Given the description of an element on the screen output the (x, y) to click on. 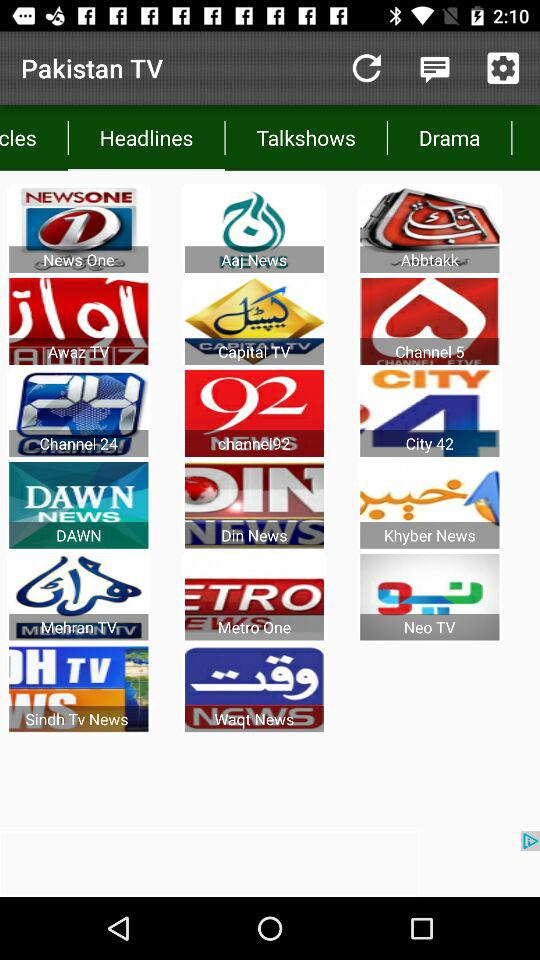
todas las noticias del dia (503, 67)
